Given the description of an element on the screen output the (x, y) to click on. 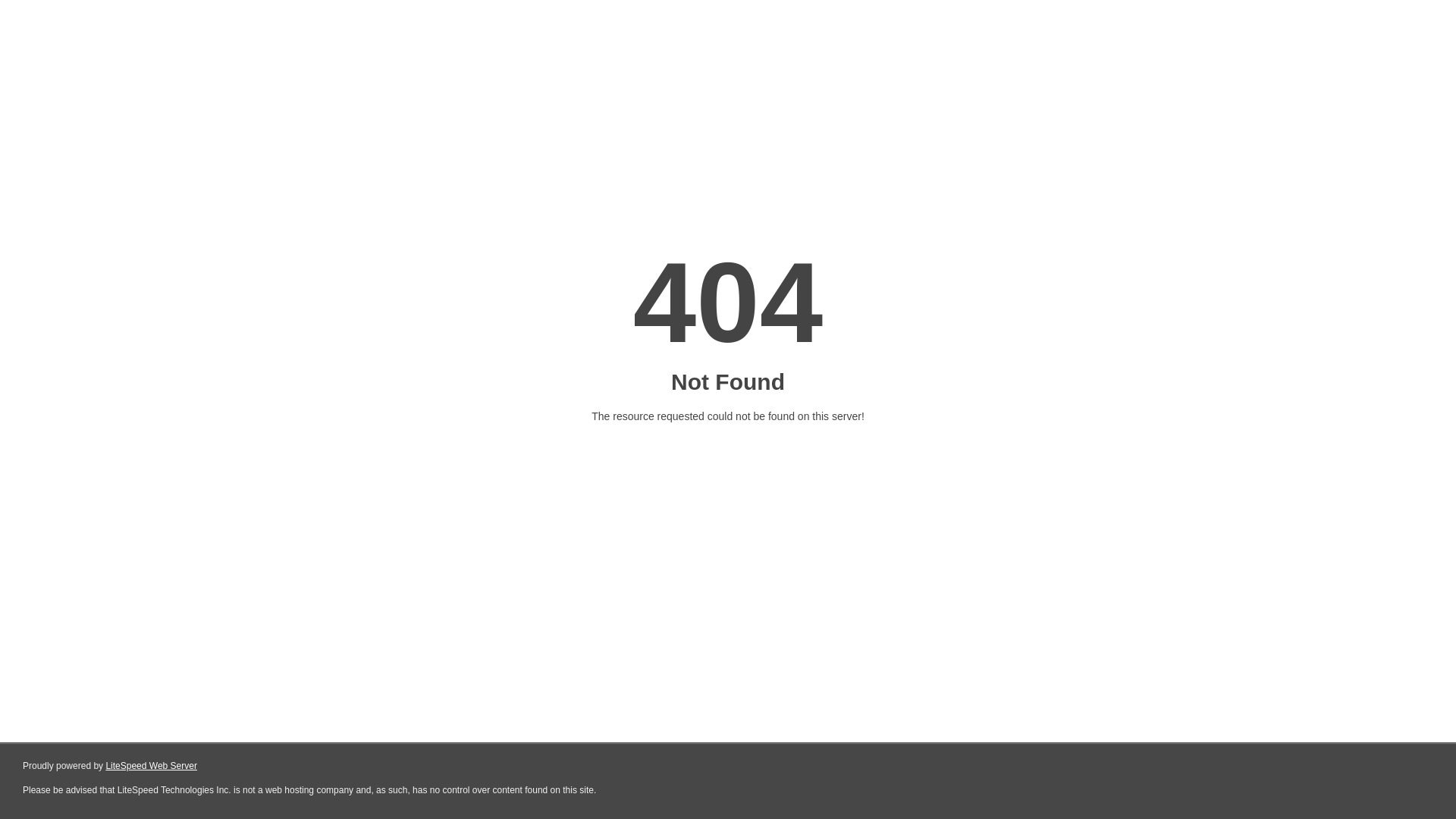
LiteSpeed Web Server Element type: text (151, 765)
